Given the description of an element on the screen output the (x, y) to click on. 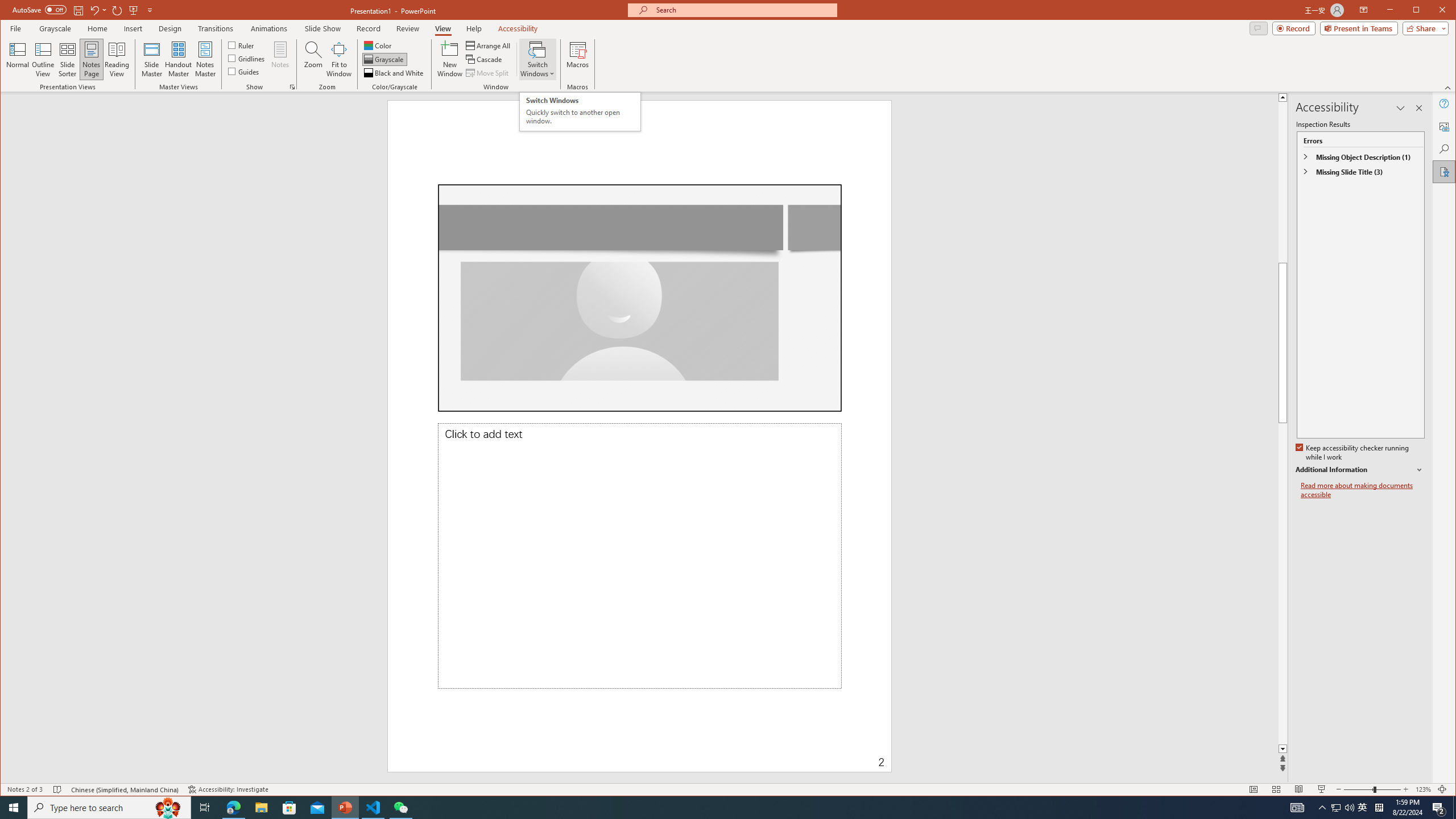
WeChat - 1 running window (400, 807)
Microsoft Edge - 1 running window (233, 807)
Move Split (488, 72)
Slide Notes (639, 555)
Gridlines (246, 57)
Notes Page (91, 59)
